Given the description of an element on the screen output the (x, y) to click on. 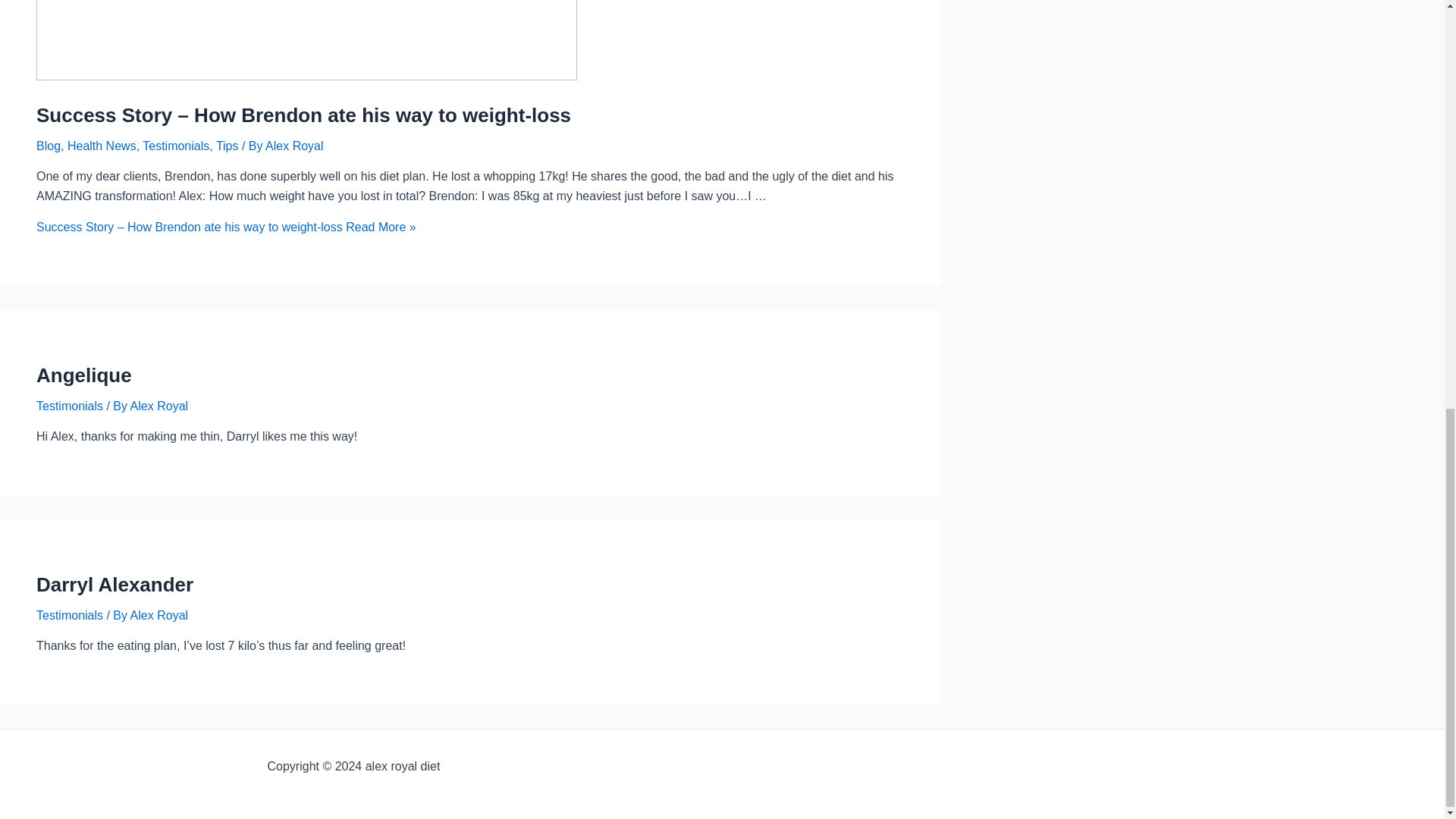
View all posts by Alex Royal (159, 615)
Testimonials (69, 405)
Alex Royal (159, 405)
Angelique (84, 374)
Testimonials (69, 615)
View all posts by Alex Royal (159, 405)
Alex Royal (159, 615)
View all posts by Alex Royal (293, 145)
Alex Royal (293, 145)
Darryl Alexander (114, 584)
Health News (101, 145)
Tips (226, 145)
Testimonials (175, 145)
Blog (48, 145)
